Given the description of an element on the screen output the (x, y) to click on. 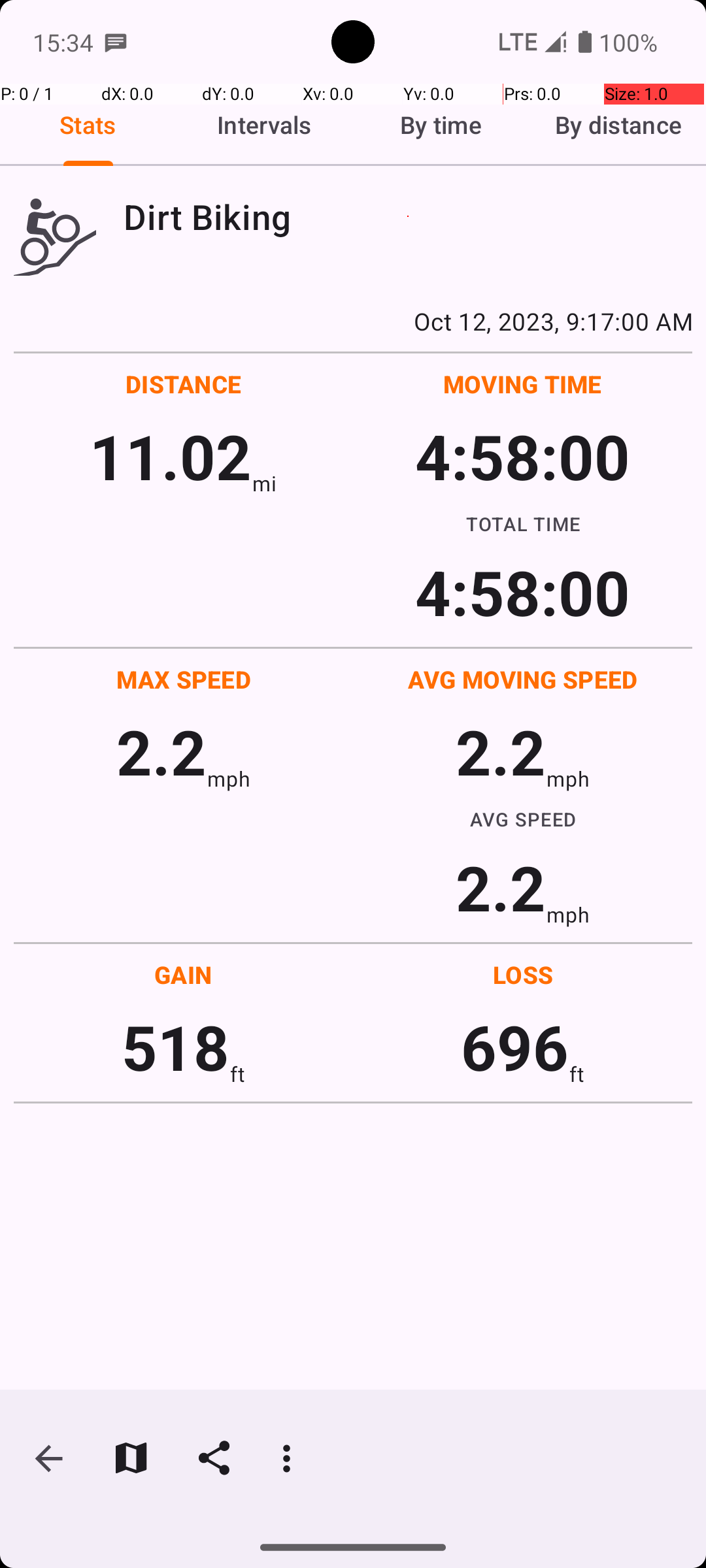
Dirt Biking Element type: android.widget.TextView (407, 216)
Oct 12, 2023, 9:17:00 AM Element type: android.widget.TextView (352, 320)
11.02 Element type: android.widget.TextView (170, 455)
4:58:00 Element type: android.widget.TextView (522, 455)
2.2 Element type: android.widget.TextView (161, 750)
518 Element type: android.widget.TextView (175, 1045)
696 Element type: android.widget.TextView (514, 1045)
